Given the description of an element on the screen output the (x, y) to click on. 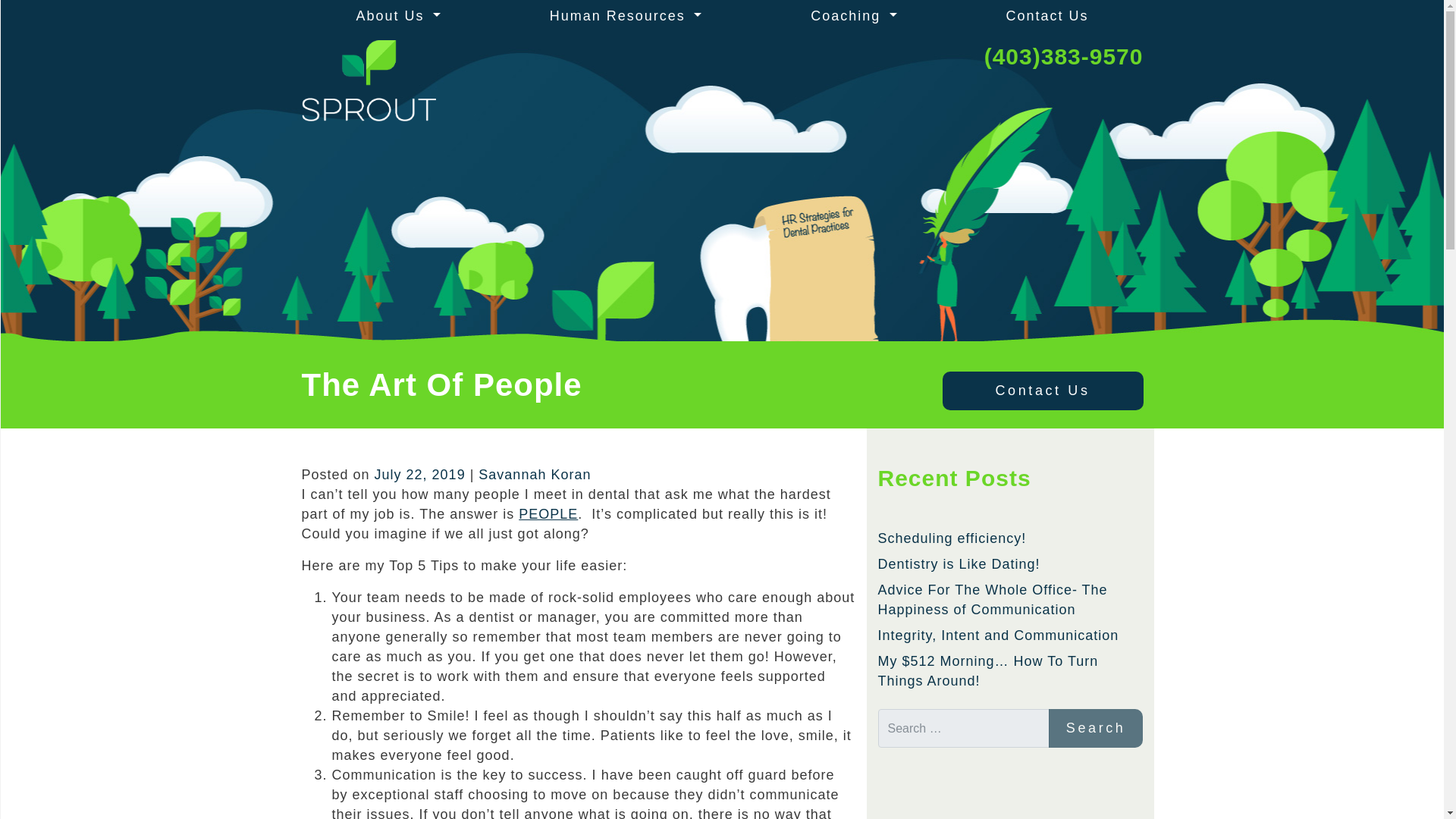
About Us (397, 15)
Human Resources (625, 15)
July 22, 2019 (422, 474)
Contact Us (1047, 15)
Search (1095, 728)
Contact Us (1042, 390)
Scheduling efficiency! (951, 538)
Integrity, Intent and Communication (998, 635)
About Us (397, 15)
Dentistry is Like Dating! (959, 563)
Savannah Koran (535, 474)
Contact Us (1047, 15)
Search (1095, 728)
Human Resources (625, 15)
Advice For The Whole Office- The Happiness of Communication (992, 599)
